Given the description of an element on the screen output the (x, y) to click on. 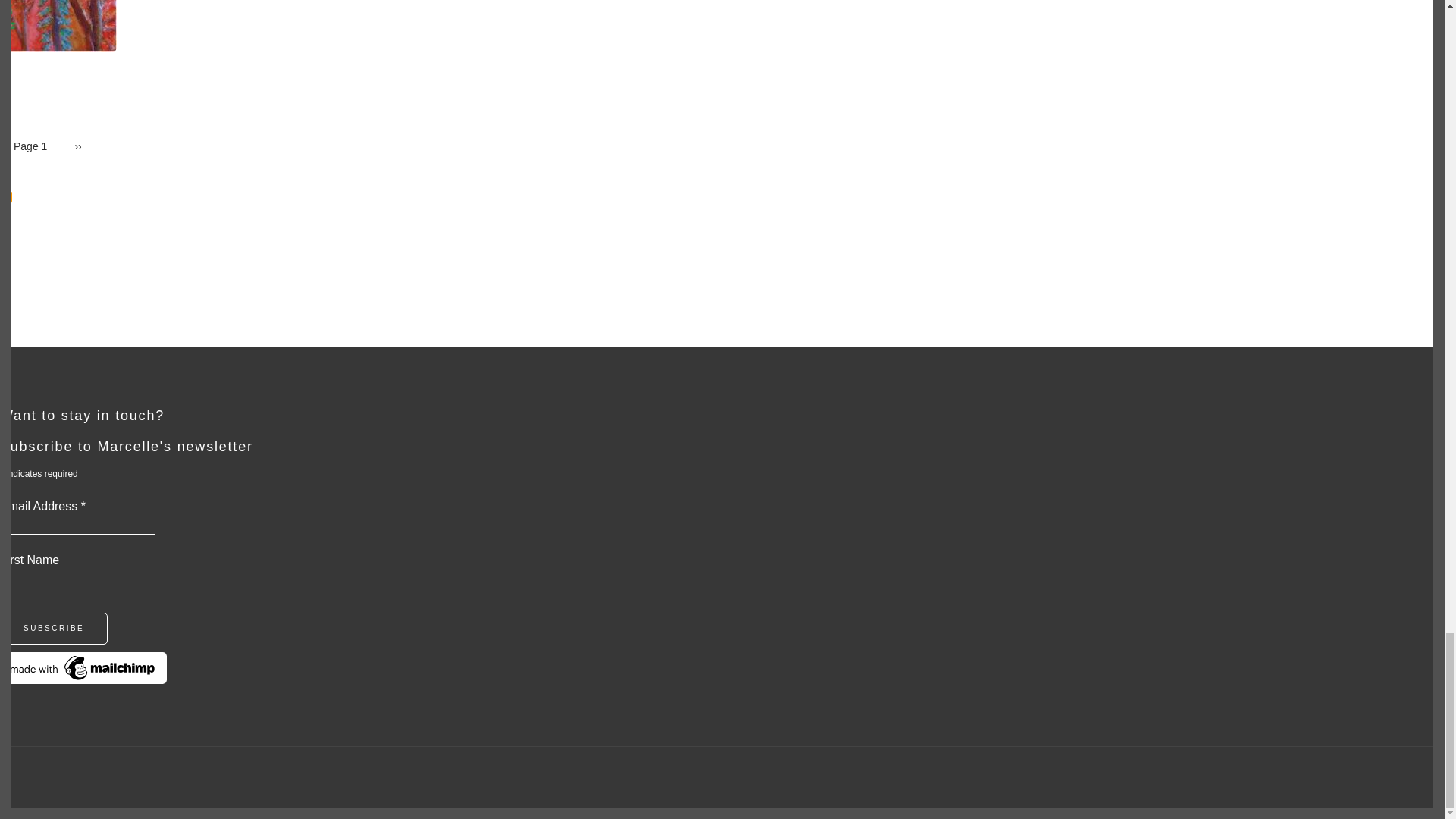
Subscribe (53, 628)
Mailchimp - email marketing made easy and fun (83, 679)
